Given the description of an element on the screen output the (x, y) to click on. 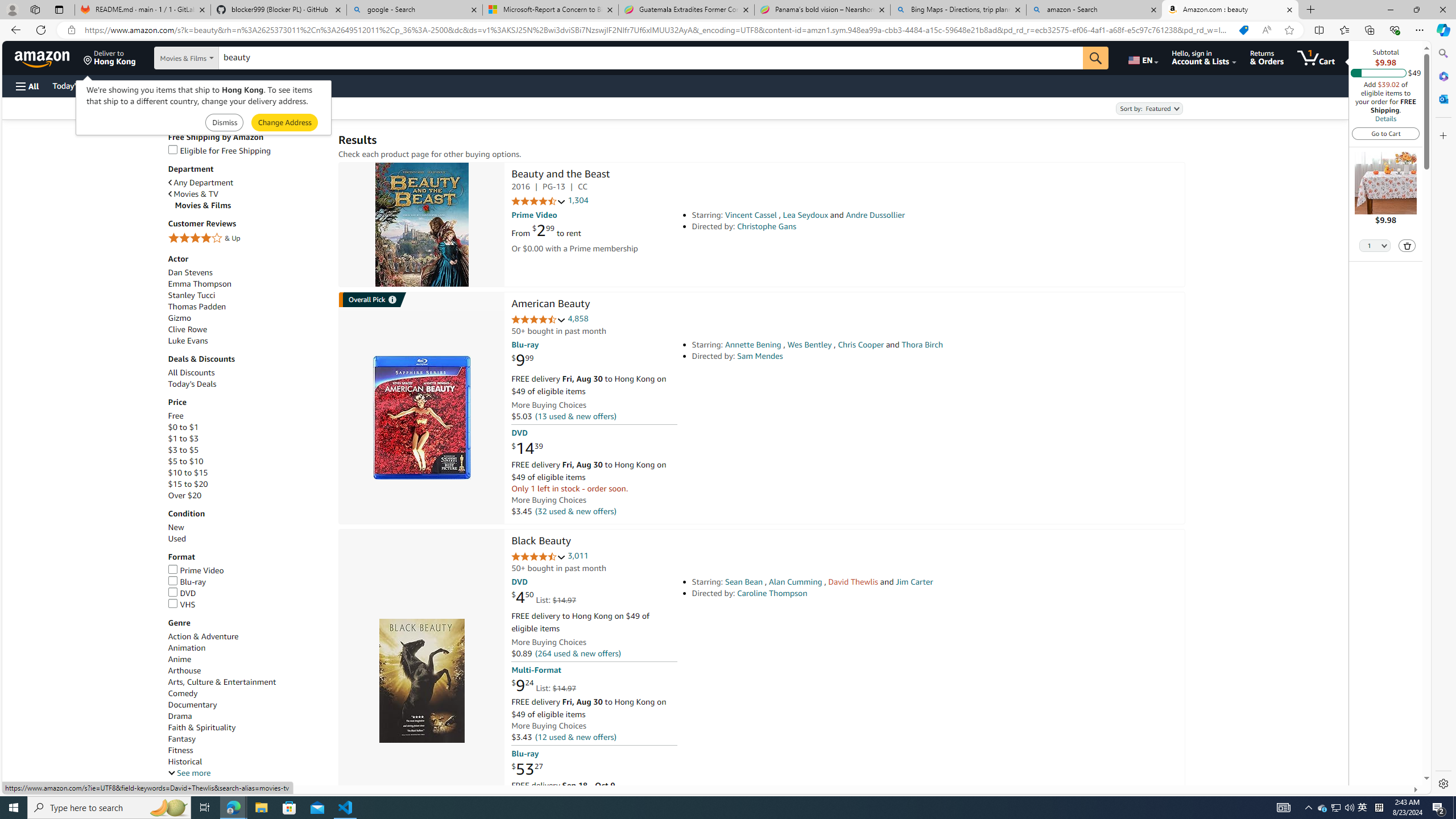
Search Amazon (650, 57)
Arthouse (247, 670)
Emma Thompson (199, 283)
Skip to main content (48, 56)
Movies & TV (247, 194)
$1 to $3 (247, 438)
Arts, Culture & Entertainment (247, 682)
Starring: Vincent Cassel , Lea Seydoux and Andre Dussollier (850, 215)
Go to Cart (1385, 133)
Free (247, 415)
Sam Mendes (759, 355)
Faith & Spirituality (201, 727)
